Given the description of an element on the screen output the (x, y) to click on. 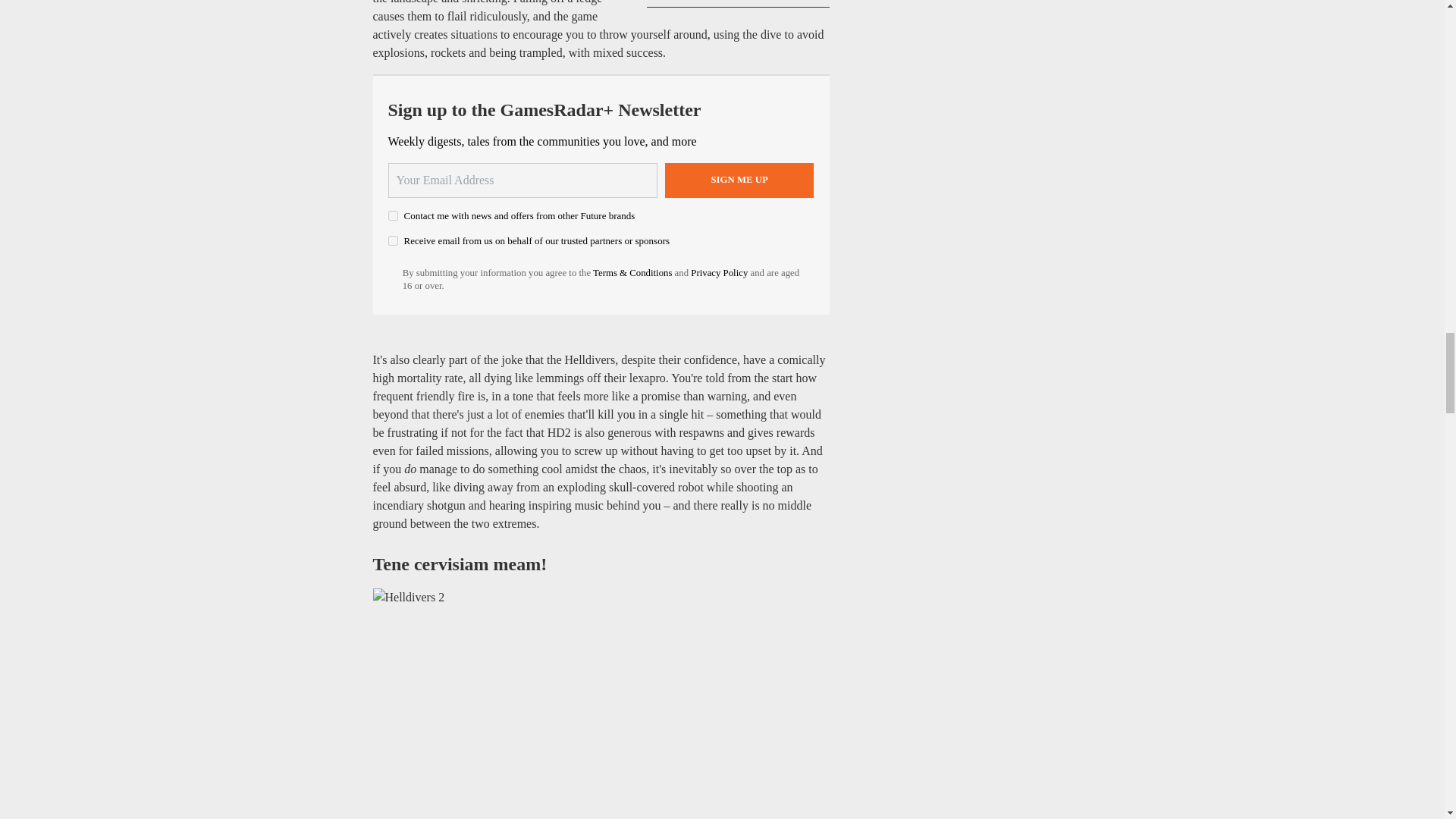
on (392, 240)
on (392, 215)
Sign me up (739, 180)
